Given the description of an element on the screen output the (x, y) to click on. 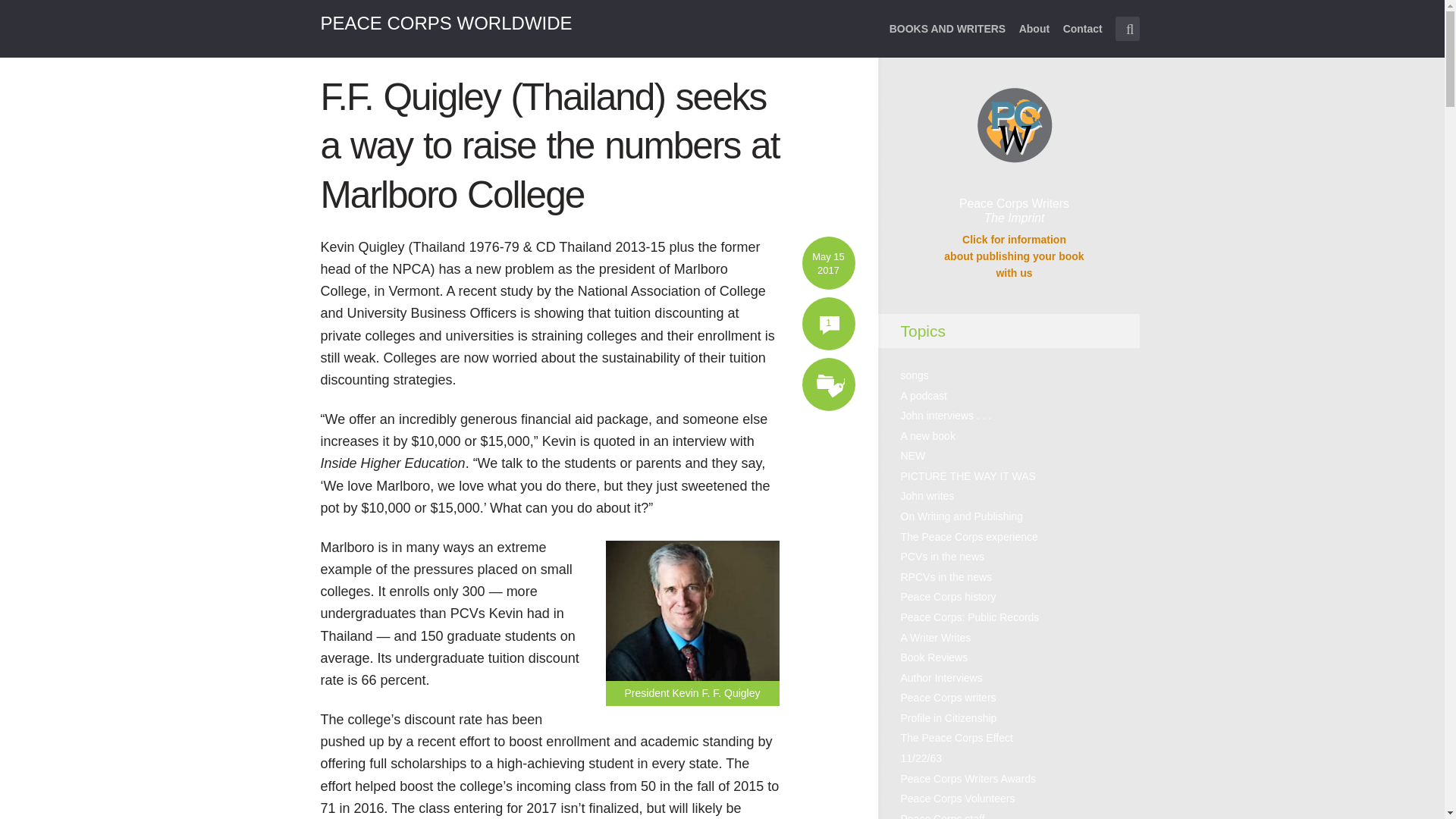
A new book (928, 435)
Peace Corps writers (948, 697)
Contact (1082, 37)
PCVs in the news (943, 556)
NEW (913, 455)
Type here to search... (1126, 28)
The Peace Corps Effect (957, 737)
A podcast (924, 395)
The Peace Corps experience (969, 536)
Peace Corps history (948, 596)
PEACE CORPS WORLDWIDE (446, 23)
On Writing and Publishing (962, 516)
John writes (928, 495)
Type here to search... (1126, 28)
